Given the description of an element on the screen output the (x, y) to click on. 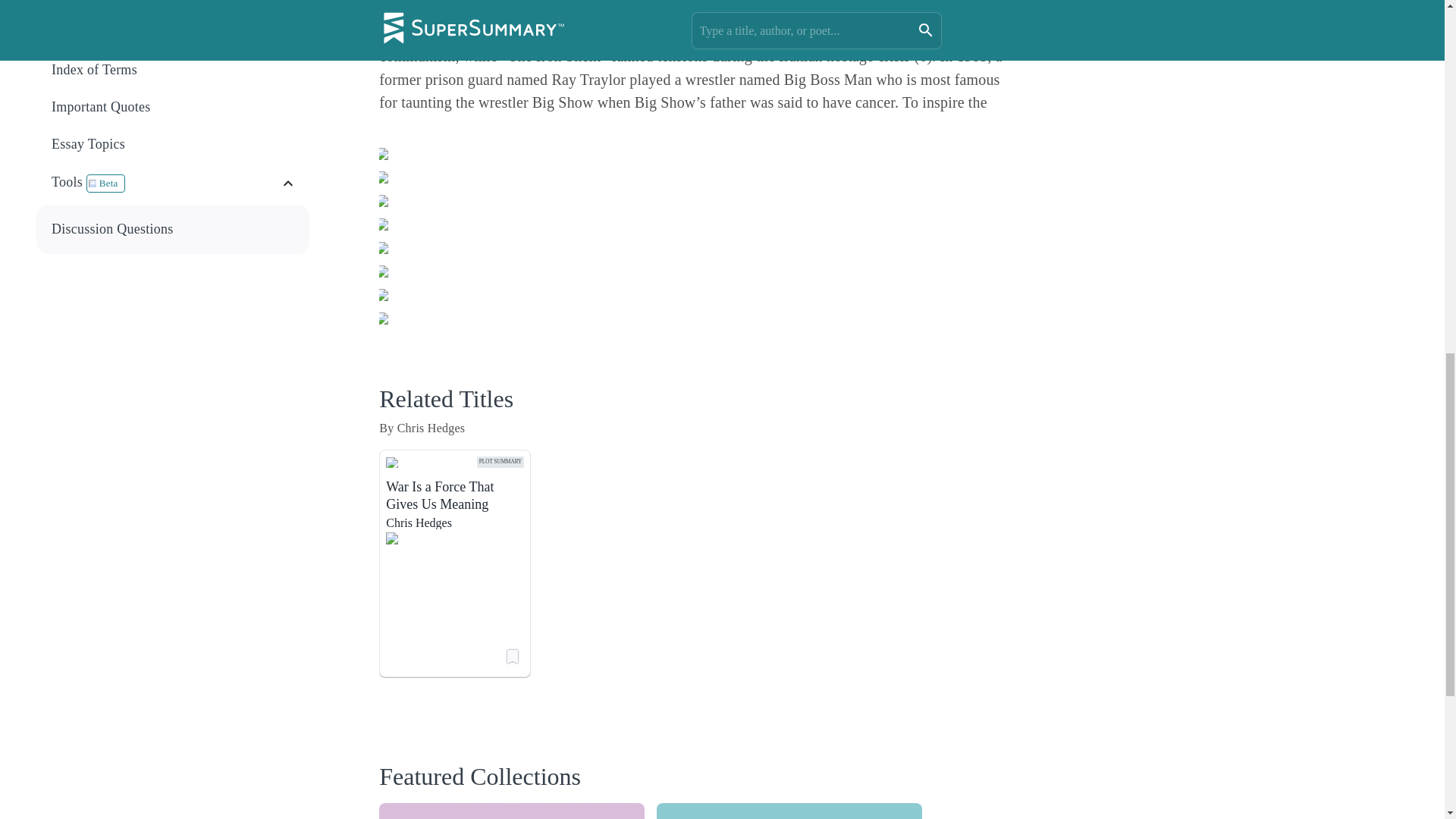
Essay Topics (173, 144)
Index of Terms (172, 69)
Important Quotes (172, 107)
Discussion Questions (173, 229)
Key Figures (173, 1)
Themes (173, 32)
Important Quotes (173, 107)
Themes (172, 32)
Discussion Questions (511, 811)
Essay Topics (172, 229)
Index of Terms (172, 144)
Tools (173, 69)
Key Figures (164, 183)
